Given the description of an element on the screen output the (x, y) to click on. 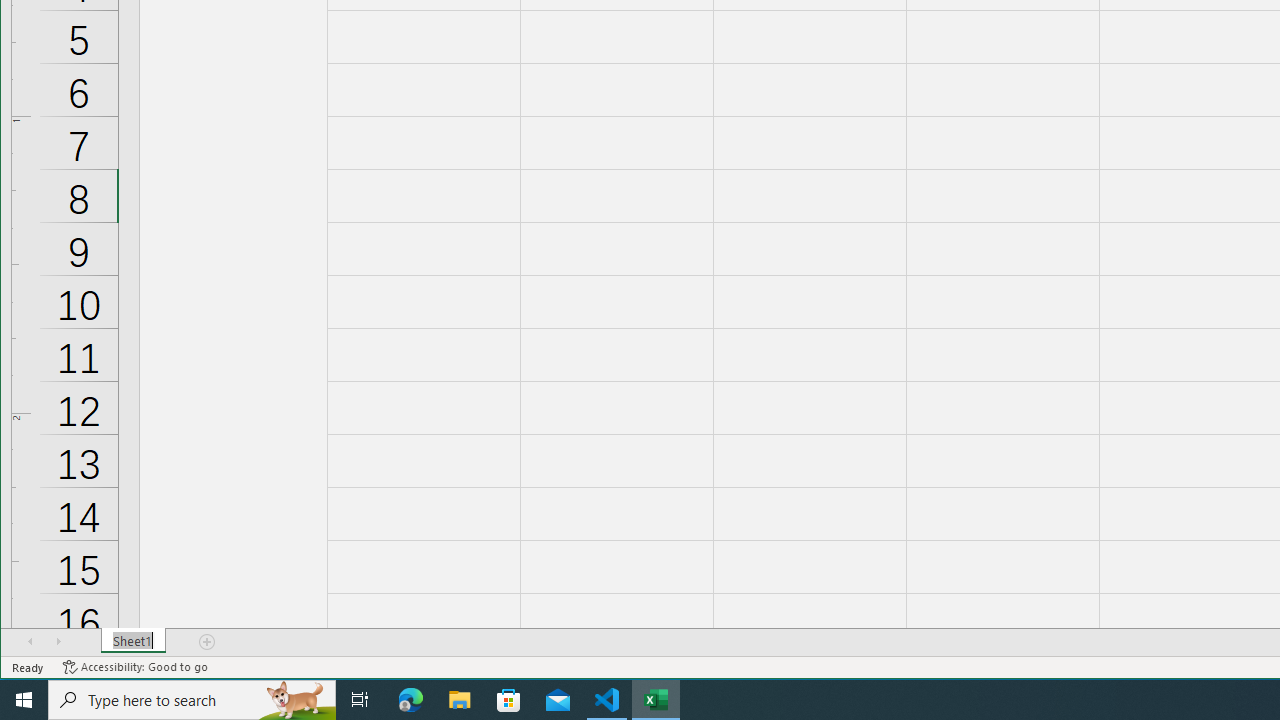
Sheet Tab (133, 641)
